Given the description of an element on the screen output the (x, y) to click on. 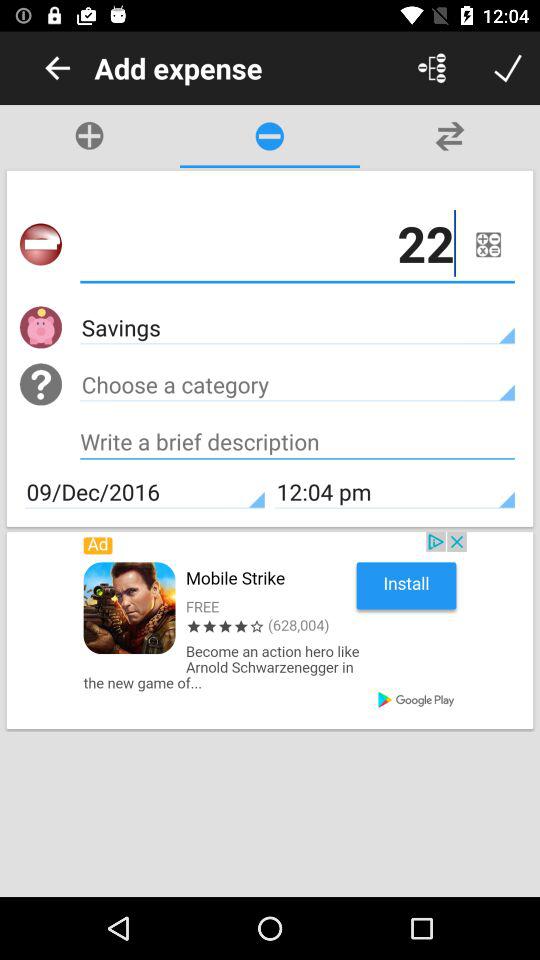
ok button (508, 67)
